Given the description of an element on the screen output the (x, y) to click on. 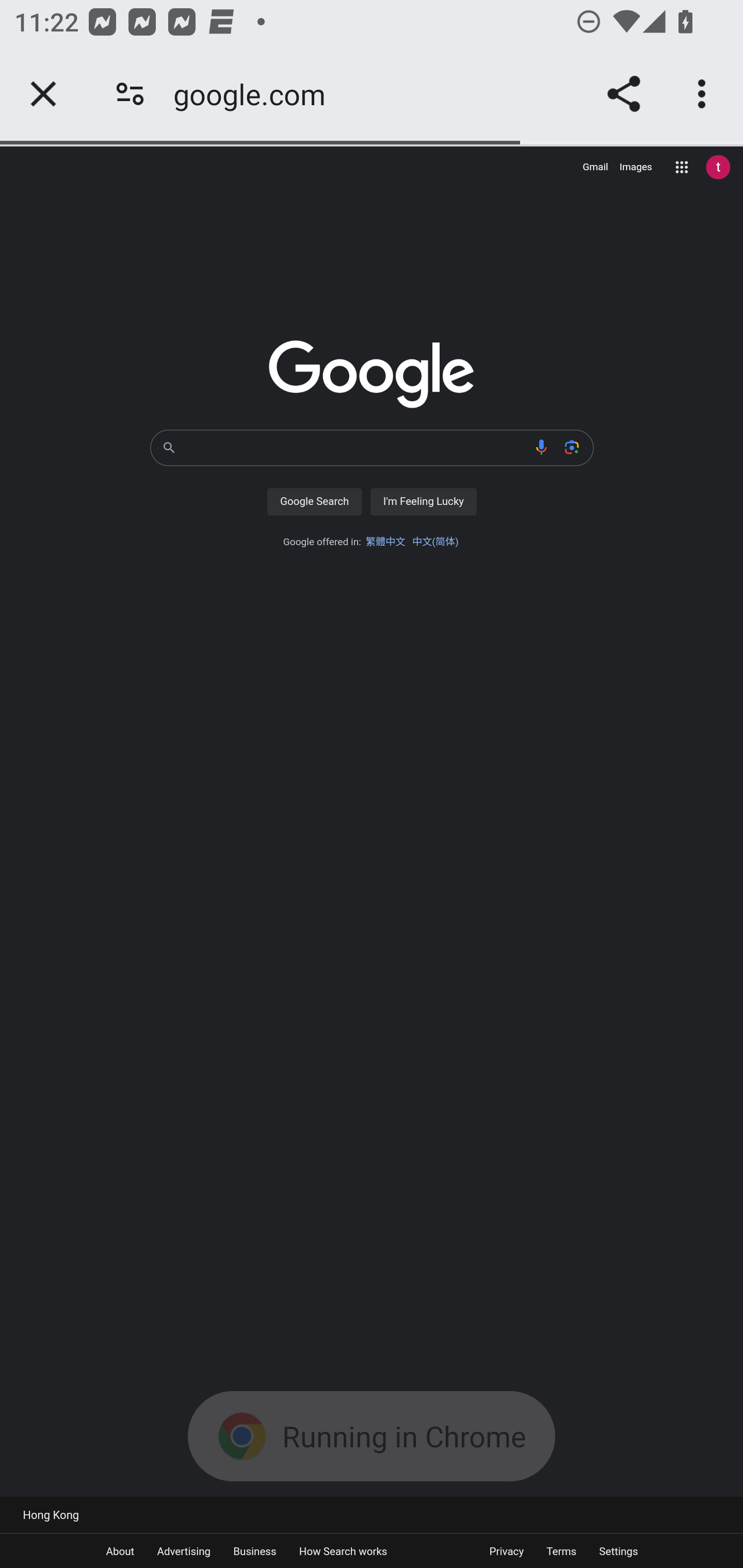
Close tab (43, 93)
Share (623, 93)
Customize and control Google Chrome (705, 93)
Connection is secure (129, 93)
google.com (256, 93)
Google apps (681, 167)
Gmail (opens a new tab) Gmail (594, 166)
Search for Images (opens a new tab) Images (635, 166)
Search by voice (541, 446)
Search by image (571, 446)
Google Search (313, 501)
I'm Feeling Lucky (423, 501)
繁體中文 (384, 541)
中文(简体) (435, 541)
About (119, 1550)
Advertising (183, 1550)
Business (254, 1550)
How Search works (342, 1550)
Privacy (506, 1550)
Terms (561, 1550)
Settings (617, 1550)
